Given the description of an element on the screen output the (x, y) to click on. 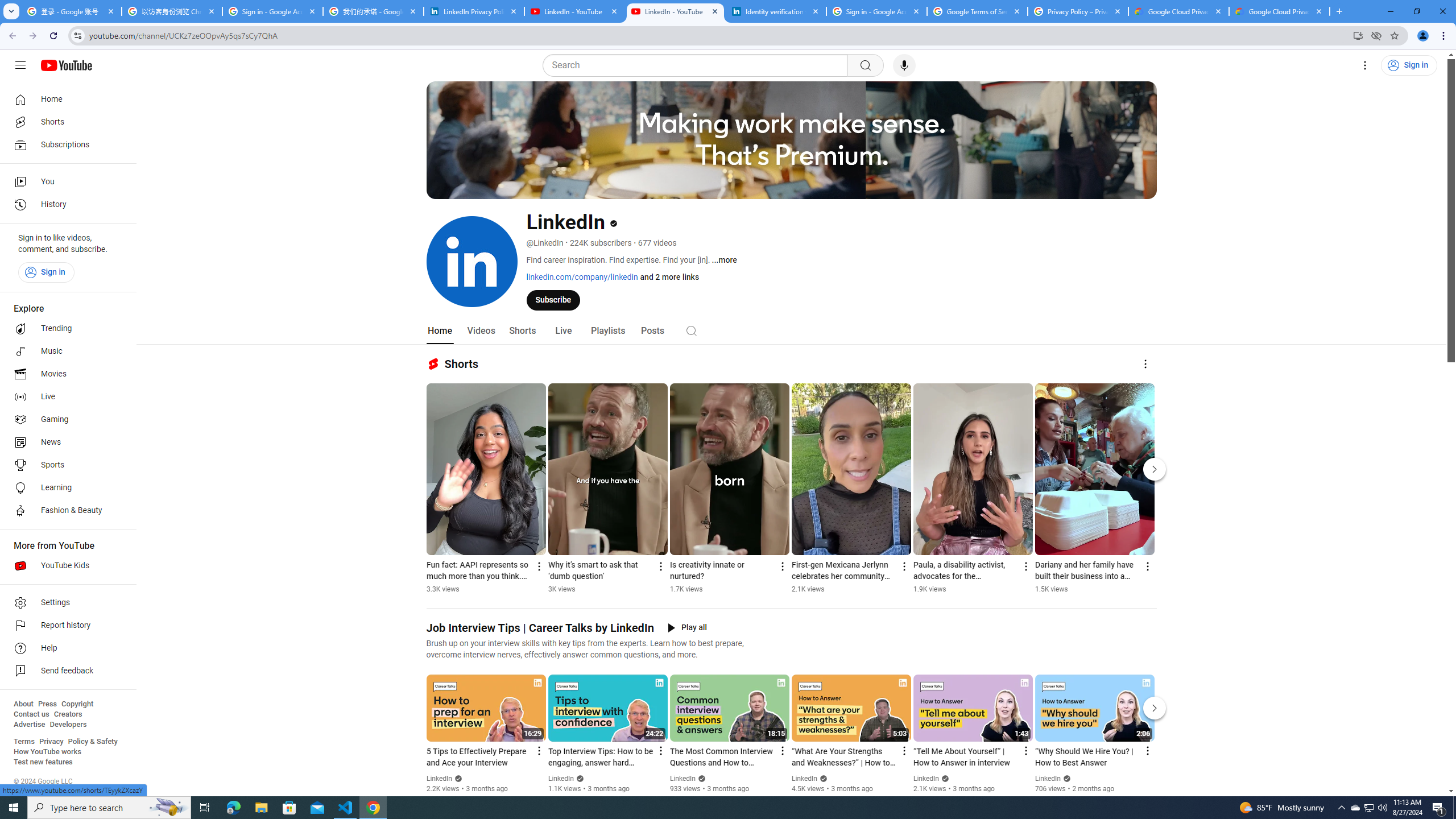
Playlists (607, 330)
and 2 more links (668, 276)
Install YouTube (1358, 35)
More actions (1146, 566)
Is creativity innate or nurtured? - play Short (722, 571)
Search with your voice (903, 65)
Shorts (521, 330)
Movies (64, 373)
